Given the description of an element on the screen output the (x, y) to click on. 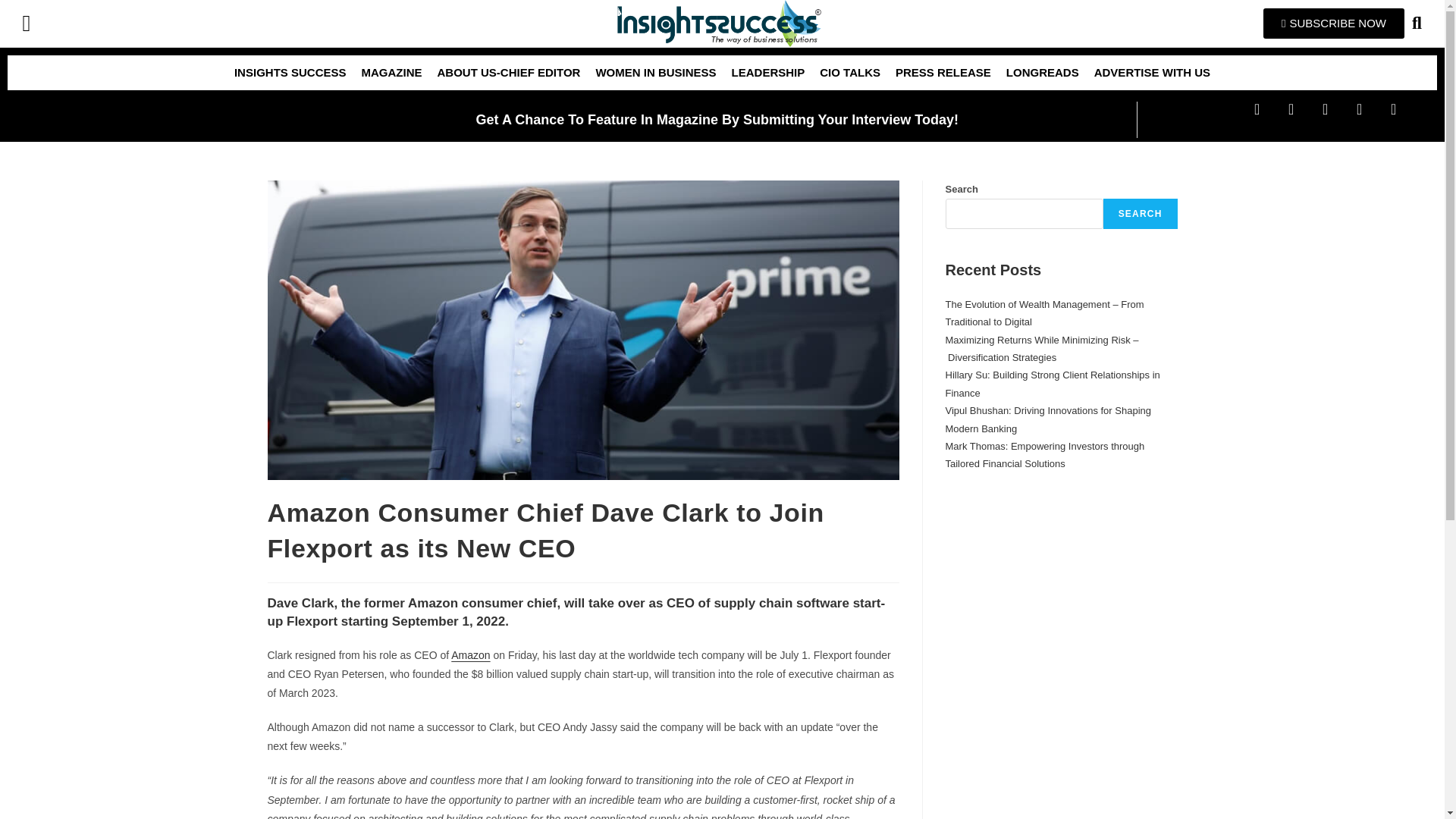
SUBSCRIBE NOW (1334, 23)
Hillary Su: Building Strong Client Relationships in Finance (1051, 383)
ABOUT US-CHIEF EDITOR (508, 72)
ADVERTISE WITH US (1151, 72)
PRESS RELEASE (943, 72)
Amazon (470, 654)
SEARCH (1140, 214)
CIO TALKS (850, 72)
